Given the description of an element on the screen output the (x, y) to click on. 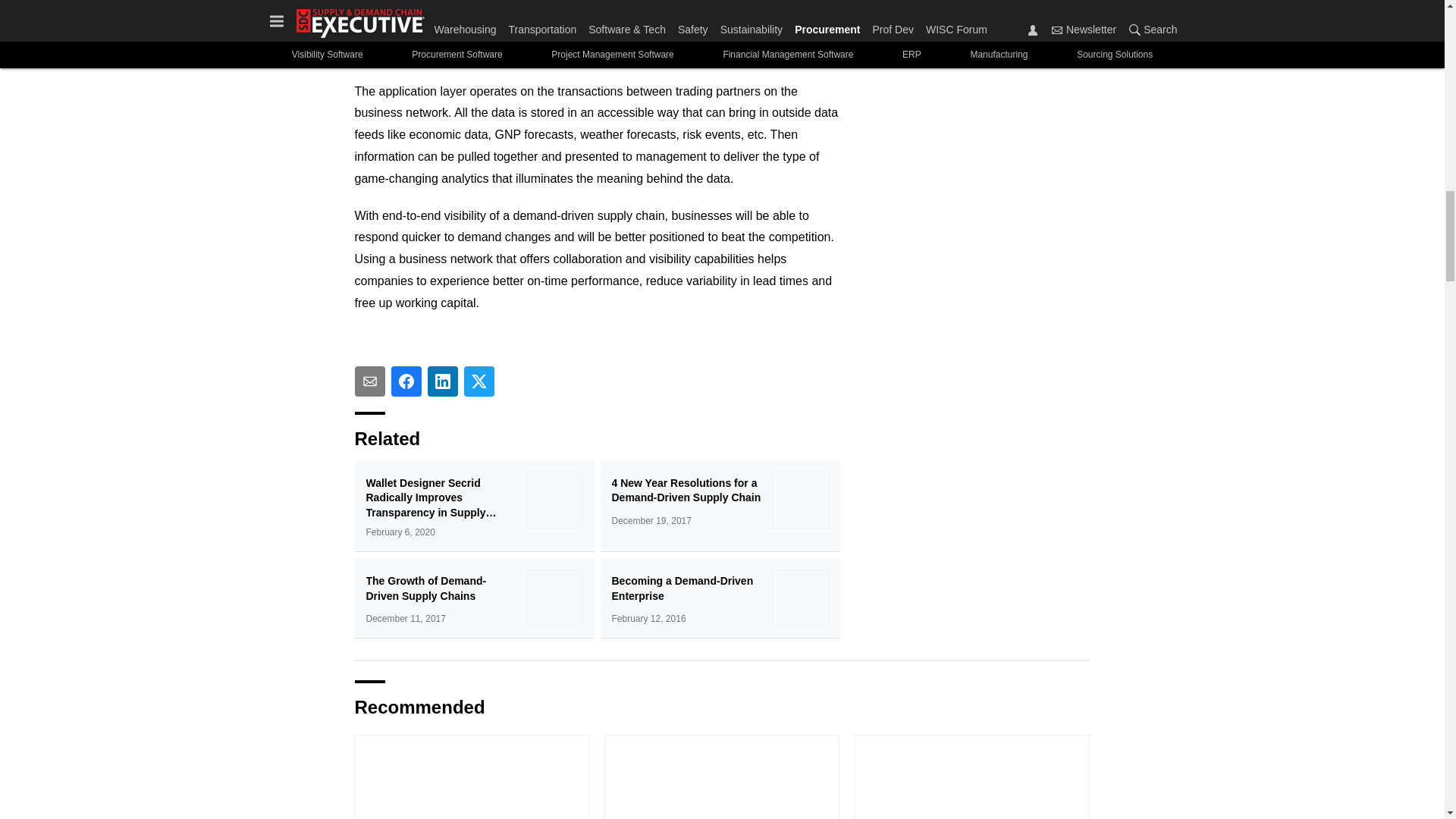
Share To twitter (479, 381)
Share To email (370, 381)
Share To linkedin (443, 381)
Share To facebook (406, 381)
